Given the description of an element on the screen output the (x, y) to click on. 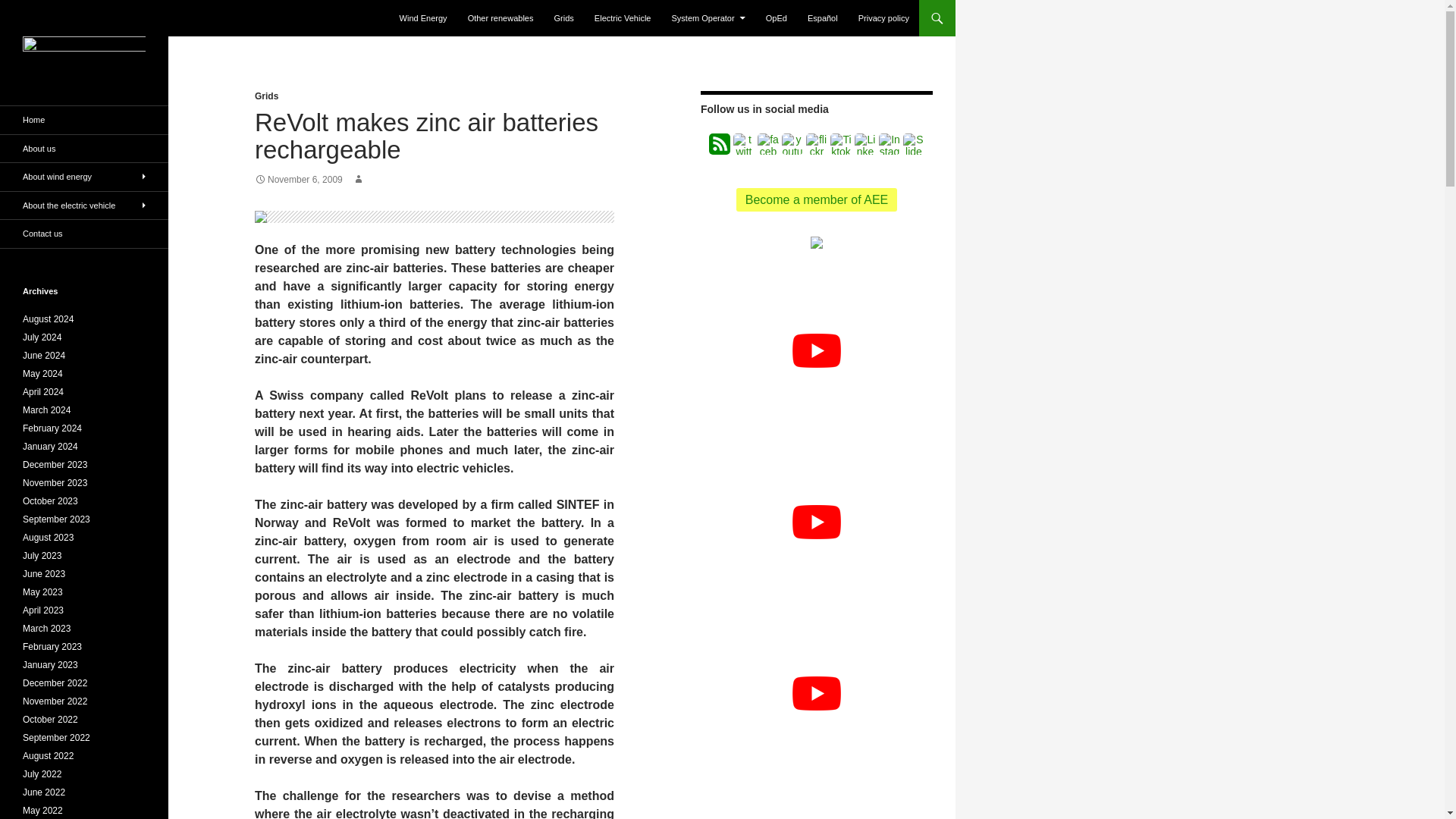
Instagram (889, 143)
OpEd (776, 18)
RSS (719, 143)
Privacy policy (883, 18)
Grids (563, 18)
Tiktok (840, 143)
Wind Energy (423, 18)
Electric Vehicle (623, 18)
flickr (816, 143)
Become a member of AEE (817, 199)
Grids (266, 95)
twitter (743, 143)
System Operator (708, 18)
November 6, 2009 (298, 179)
Other renewables (500, 18)
